Given the description of an element on the screen output the (x, y) to click on. 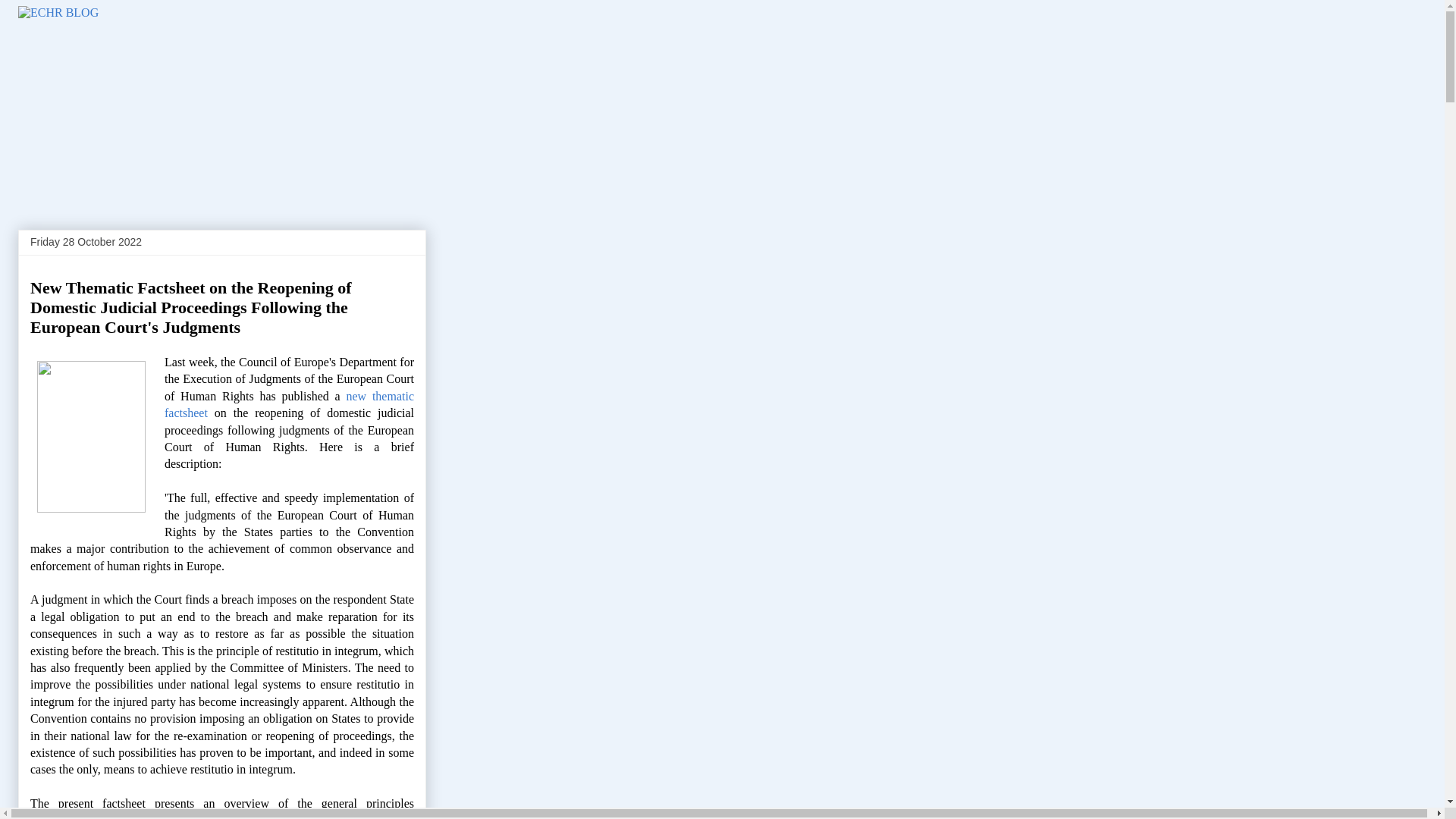
new thematic factsheet (288, 404)
